Given the description of an element on the screen output the (x, y) to click on. 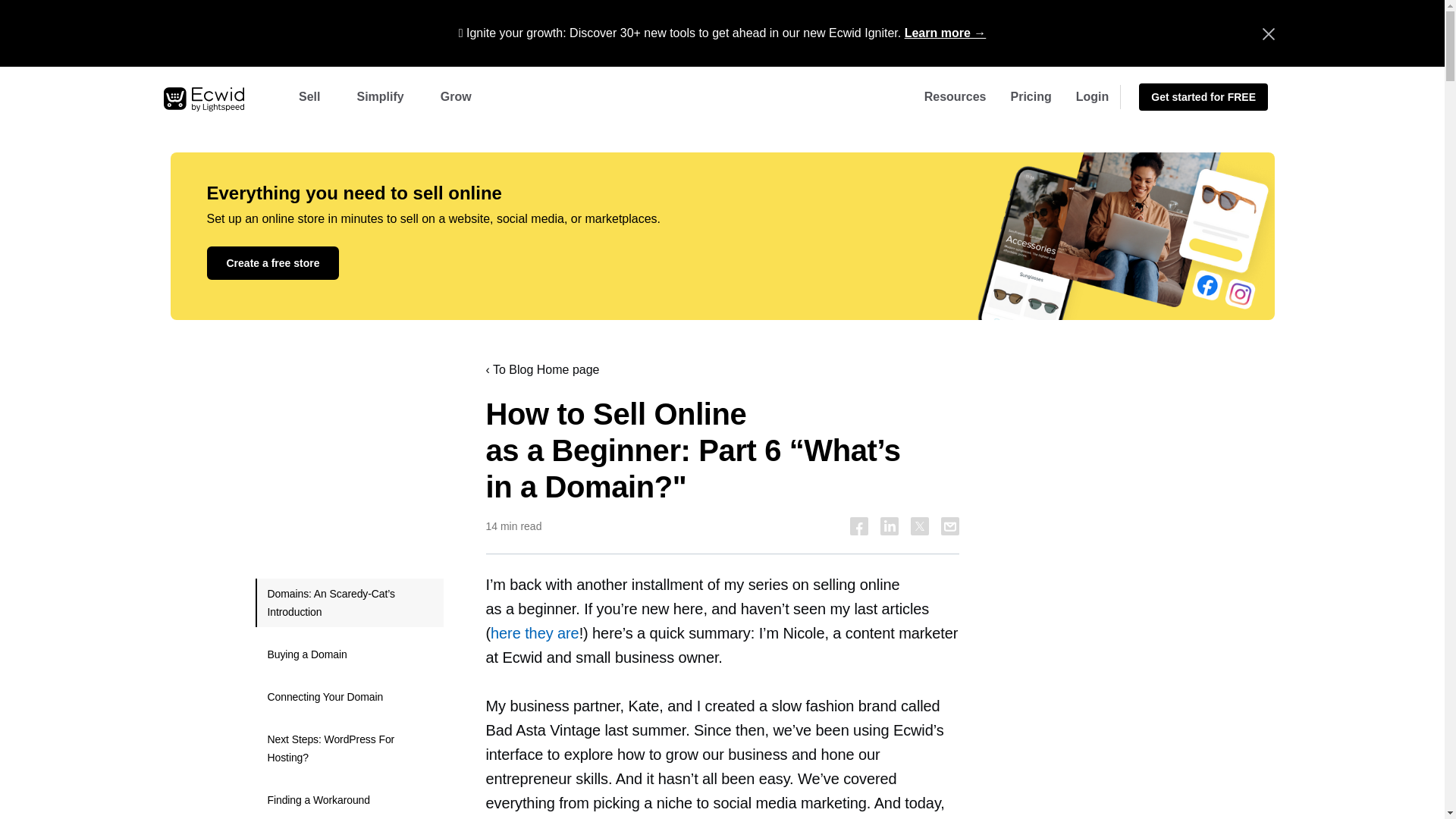
Simplify (379, 96)
Grow (455, 96)
Send to friend (949, 525)
On Facebook (857, 525)
On X (919, 525)
Resources (955, 96)
On LinkedIn (888, 525)
Sell (309, 96)
Pricing (1031, 96)
Get started for FREE (1203, 96)
